Given the description of an element on the screen output the (x, y) to click on. 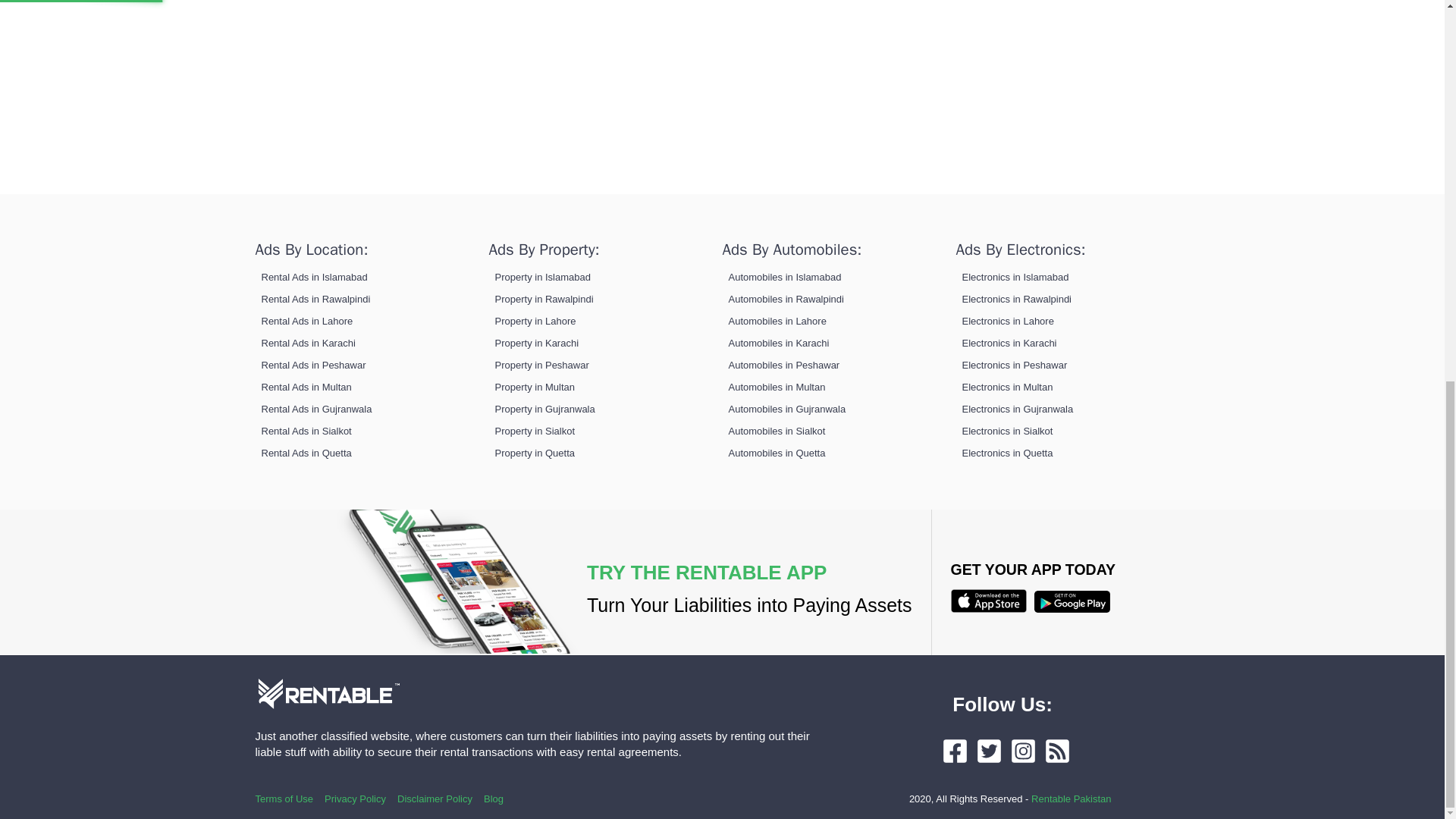
Electronics in Rawalpindi (1015, 298)
Automobiles in Peshawar (784, 365)
Electronics in Islamabad (1014, 276)
Automobiles in Multan (776, 387)
Property in Rawalpindi (543, 298)
Electronics in Karachi (1008, 342)
Rental Ads in Lahore (306, 320)
Property in Peshawar (541, 365)
Property in Multan (535, 387)
Rental Ads in Multan (305, 387)
Automobiles in Islamabad (784, 276)
Automobiles in Quetta (776, 452)
Rental Ads in Quetta (305, 452)
Property in Lahore (535, 320)
Automobiles in Karachi (778, 342)
